Given the description of an element on the screen output the (x, y) to click on. 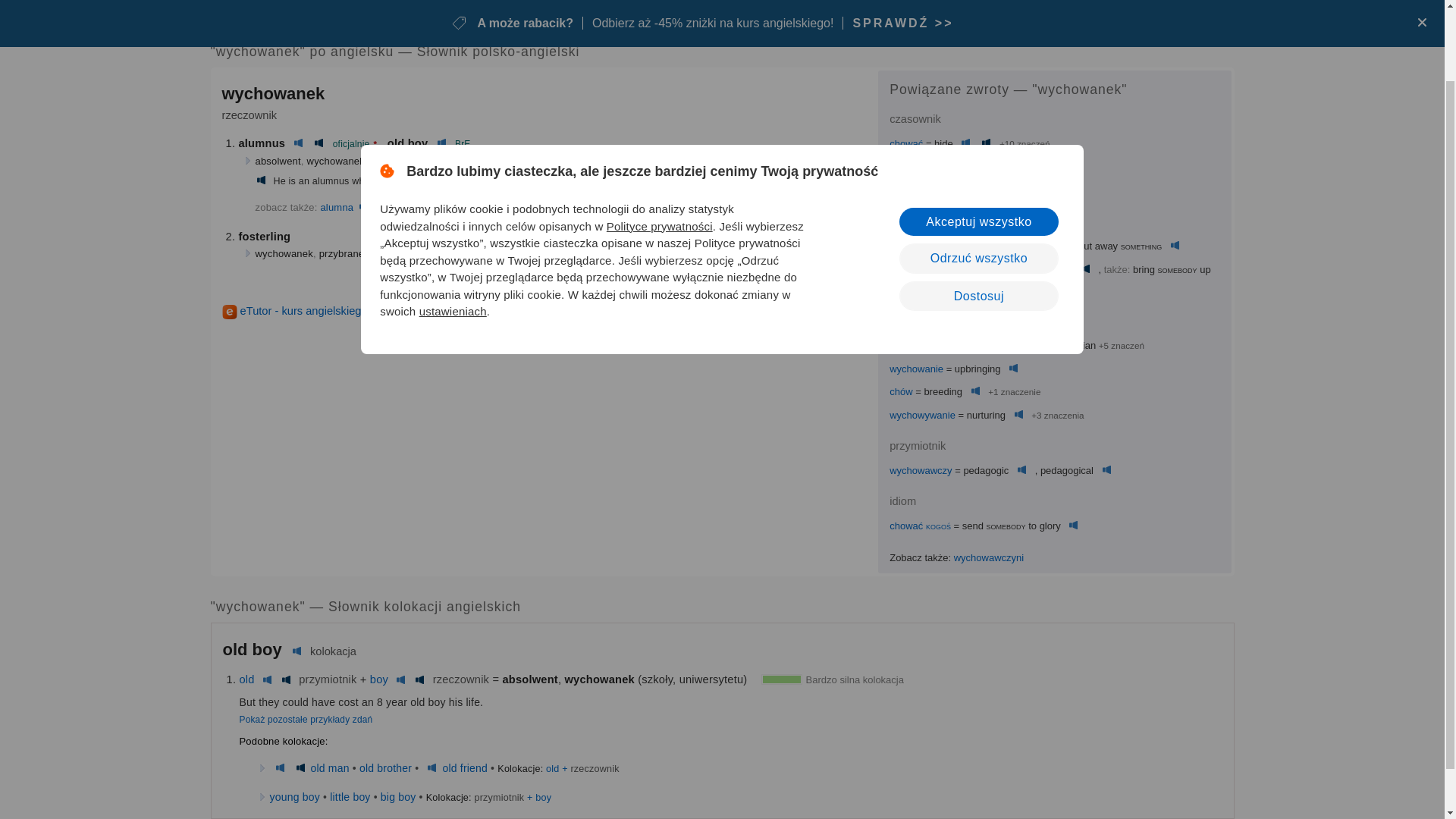
British English (440, 206)
American English (1009, 190)
British English (298, 143)
British English (986, 166)
British English (363, 206)
American English (260, 181)
oficjalnie (351, 143)
old girl (415, 206)
American English (318, 143)
wychowanek (441, 10)
